Given the description of an element on the screen output the (x, y) to click on. 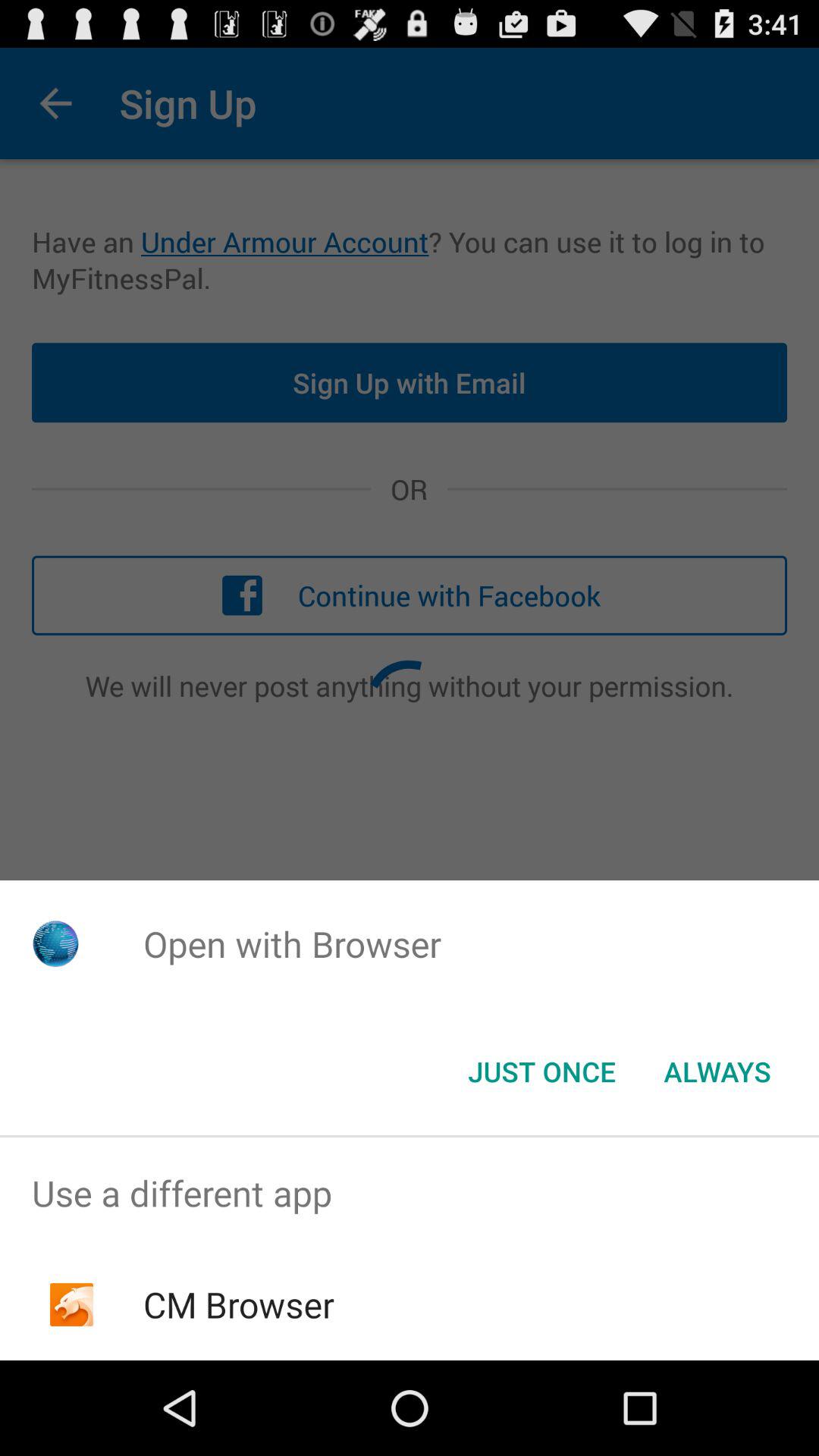
turn off the button to the right of the just once icon (717, 1071)
